Given the description of an element on the screen output the (x, y) to click on. 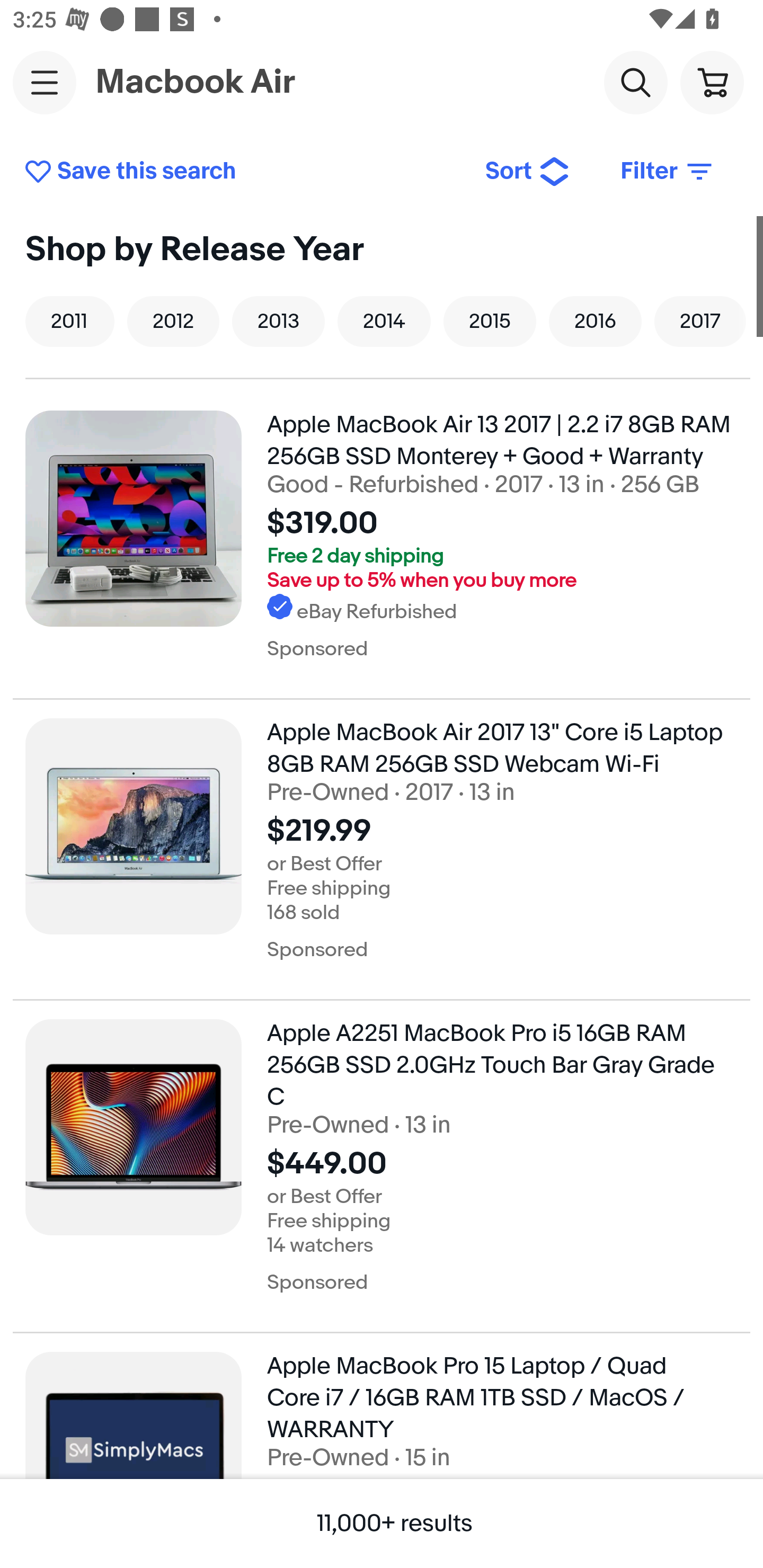
Main navigation, open (44, 82)
Search (635, 81)
Cart button shopping cart (711, 81)
Save this search (241, 171)
Sort (527, 171)
Filter (667, 171)
2011 2011, Release Year (69, 321)
2012 2012, Release Year (173, 321)
2013 2013, Release Year (278, 321)
2014 2014, Release Year (384, 321)
2015 2015, Release Year (489, 321)
2016 2016, Release Year (594, 321)
2017 2017, Release Year (700, 321)
